Given the description of an element on the screen output the (x, y) to click on. 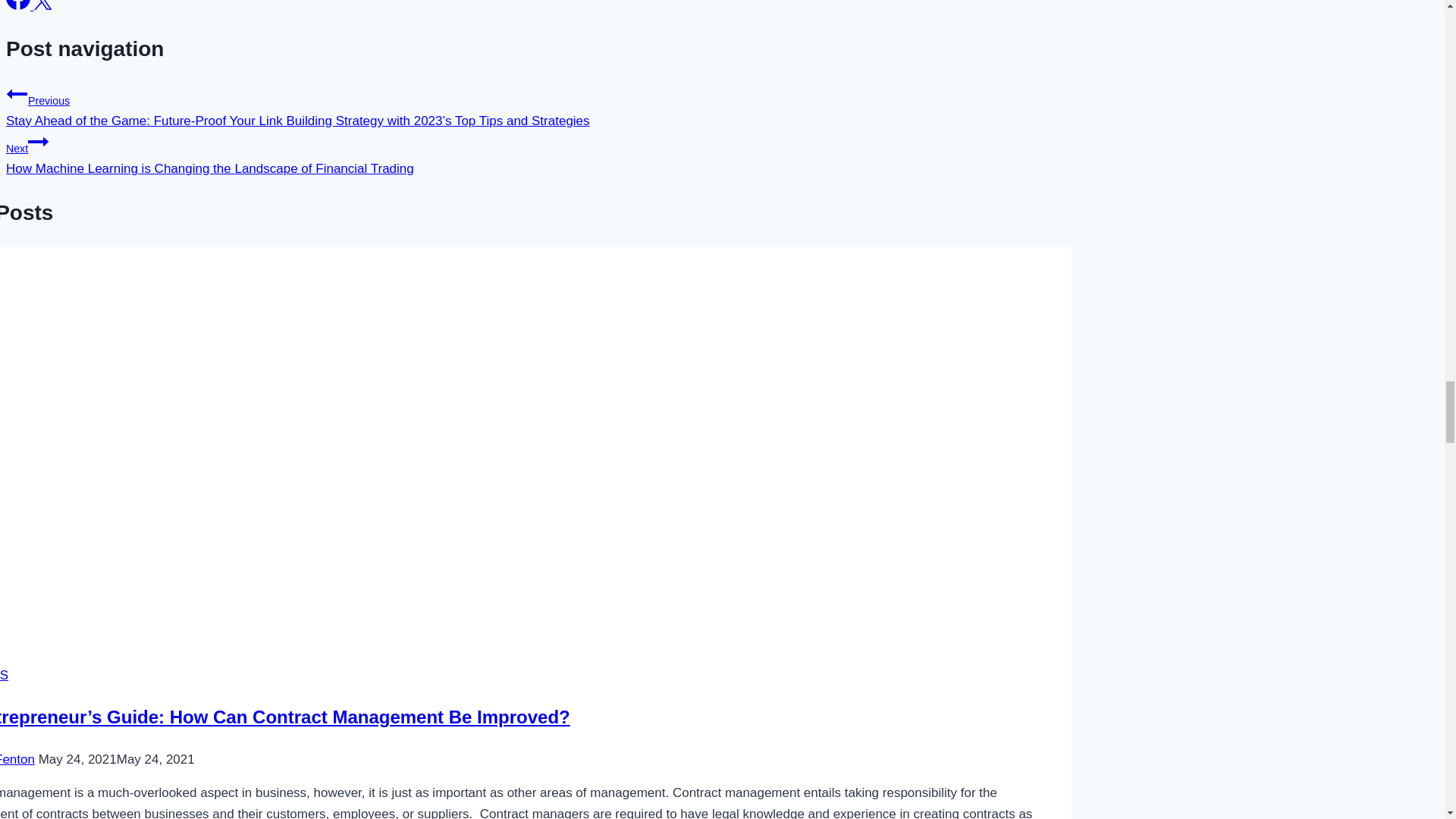
X (41, 4)
Previous (16, 93)
Follow David Fenton on Facebook (19, 6)
Follow David Fenton on X formerly Twitter (41, 6)
Continue (37, 141)
Facebook (17, 4)
